Given the description of an element on the screen output the (x, y) to click on. 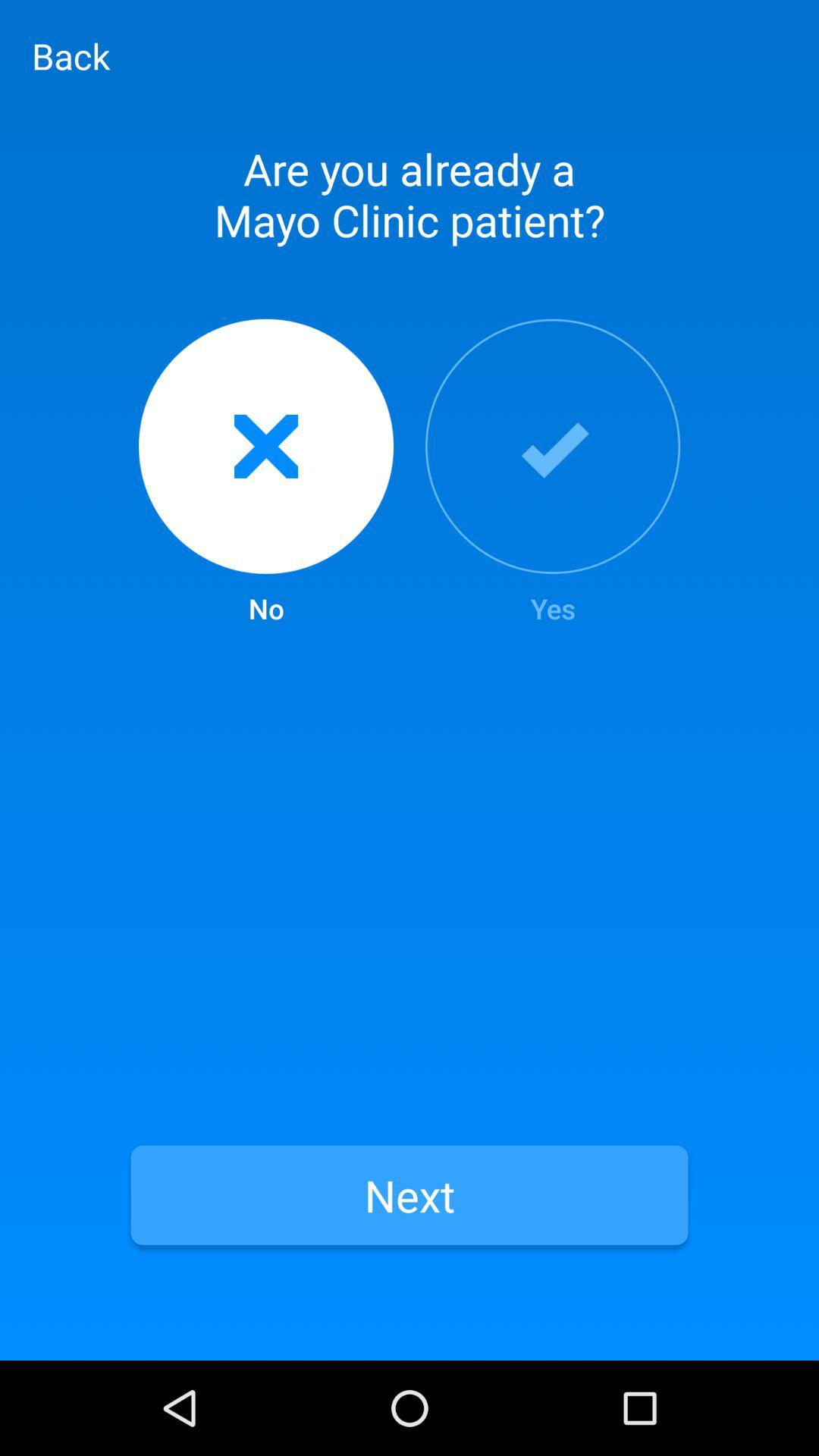
tap icon to the left of yes (265, 473)
